Given the description of an element on the screen output the (x, y) to click on. 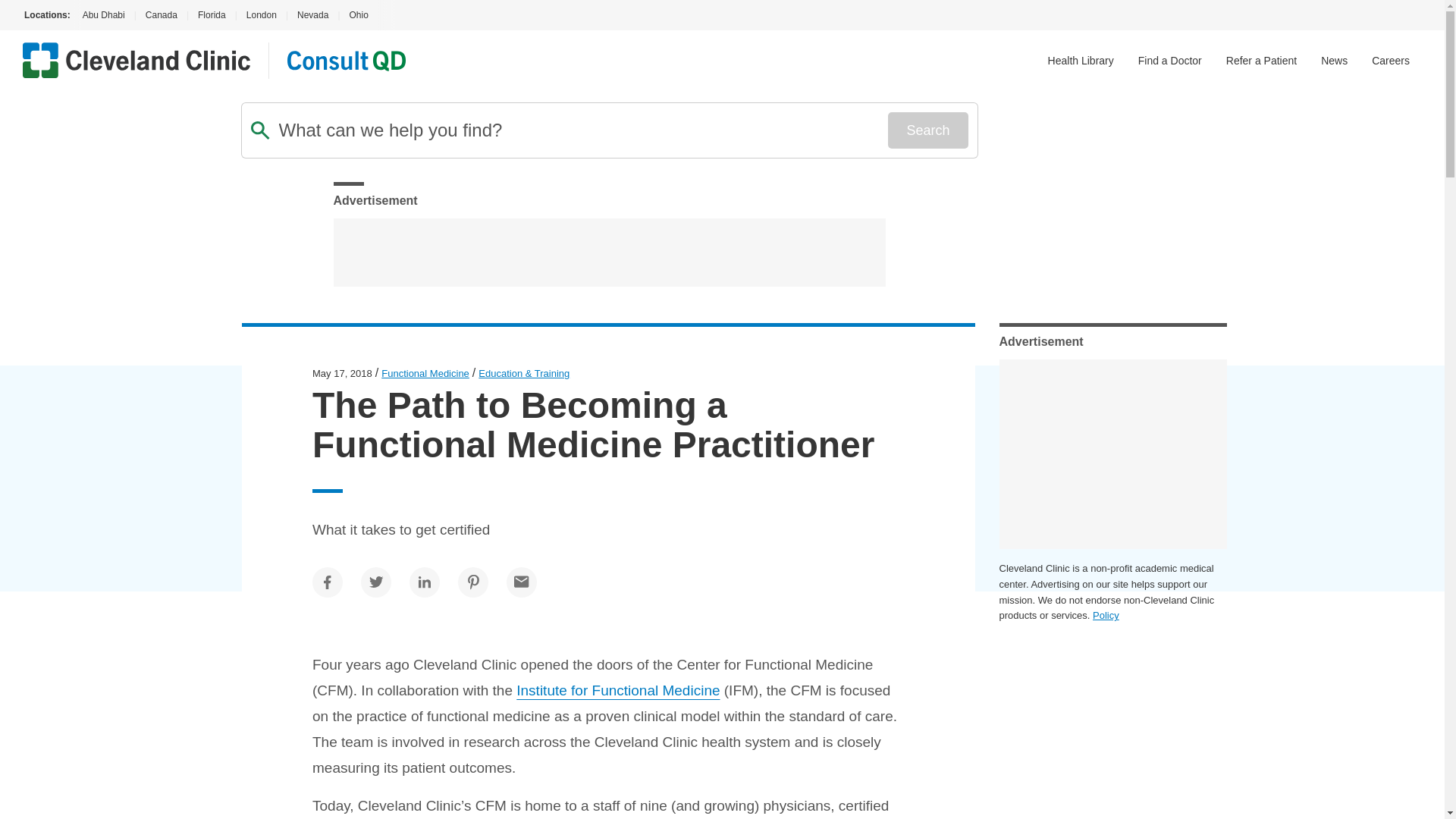
Find a Doctor (1170, 60)
Refer a Patient (1261, 60)
Abu Dhabi (101, 15)
Policy (1106, 614)
Institute for Functional Medicine (617, 690)
Ohio (358, 15)
Functional Medicine (424, 373)
Nevada (312, 15)
Health Library (1080, 60)
News (1334, 60)
